Given the description of an element on the screen output the (x, y) to click on. 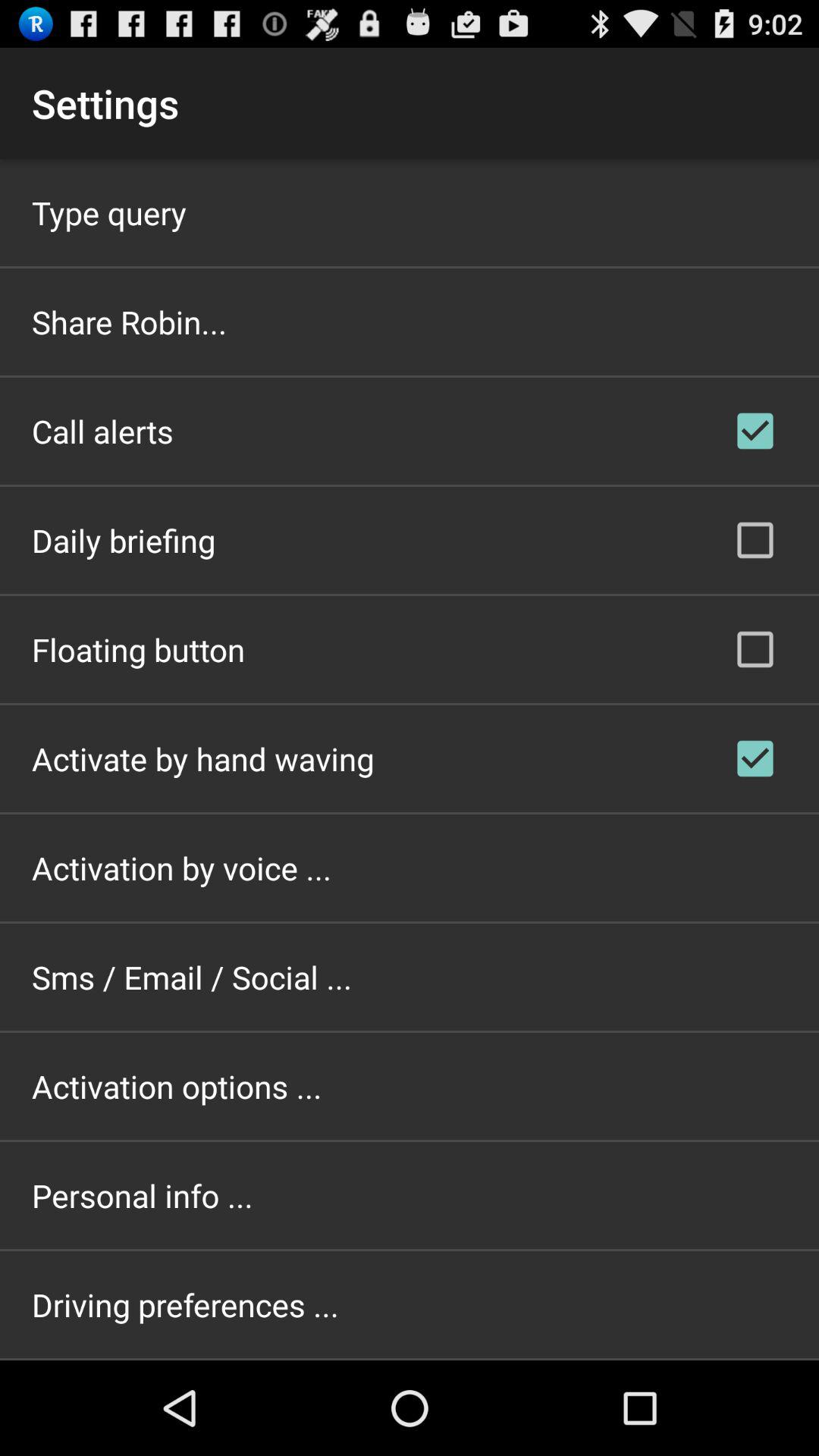
launch app above the sms / email / social ... app (181, 867)
